Given the description of an element on the screen output the (x, y) to click on. 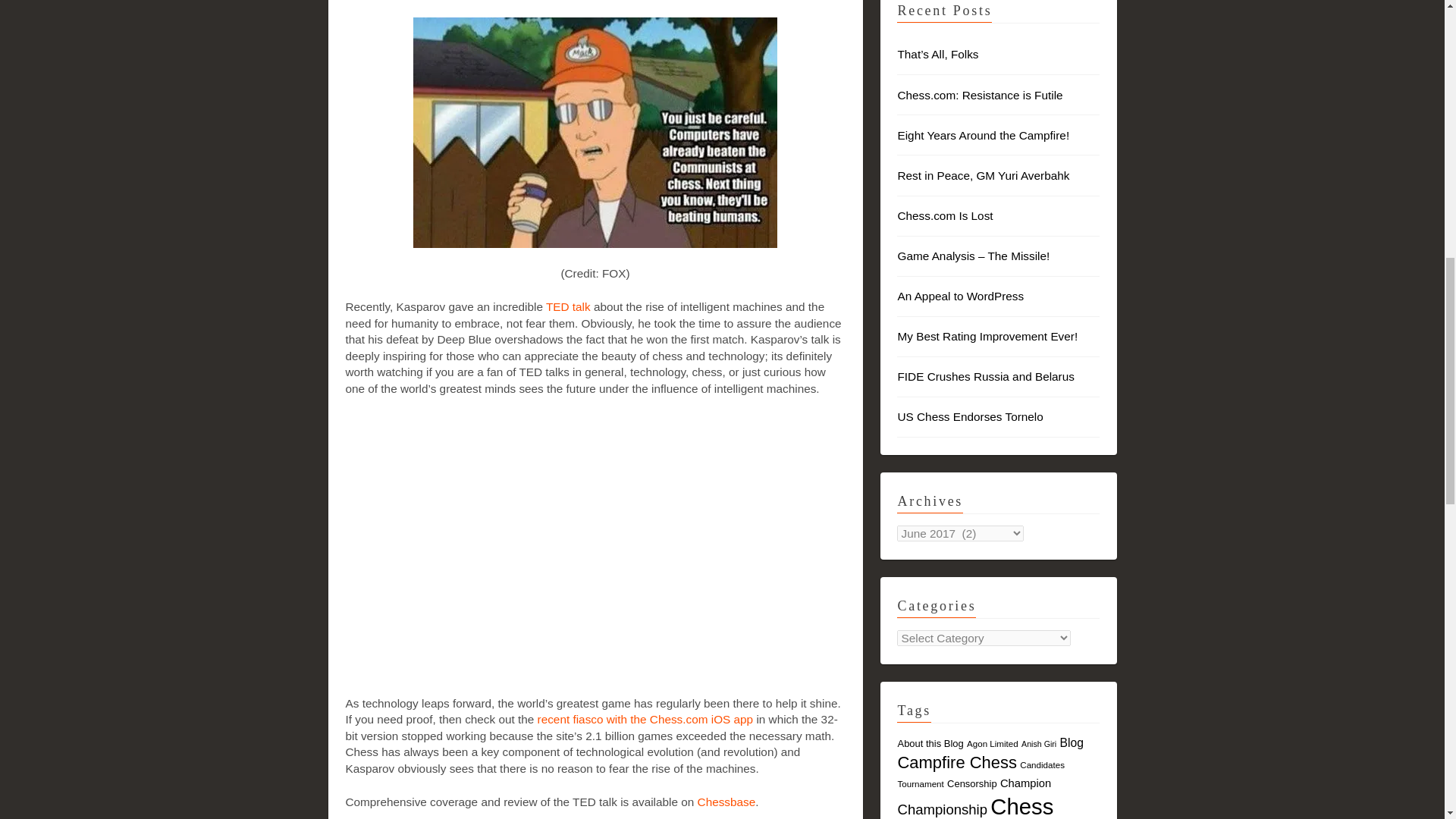
An Appeal to WordPress (959, 295)
TED talk (568, 306)
Chess.com Is Lost (944, 215)
Eight Years Around the Campfire! (982, 134)
Chess.com: Resistance is Futile (979, 94)
recent fiasco with the Chess.com iOS app (645, 718)
Rest in Peace, GM Yuri Averbahk (982, 174)
Chessbase (726, 801)
